Given the description of an element on the screen output the (x, y) to click on. 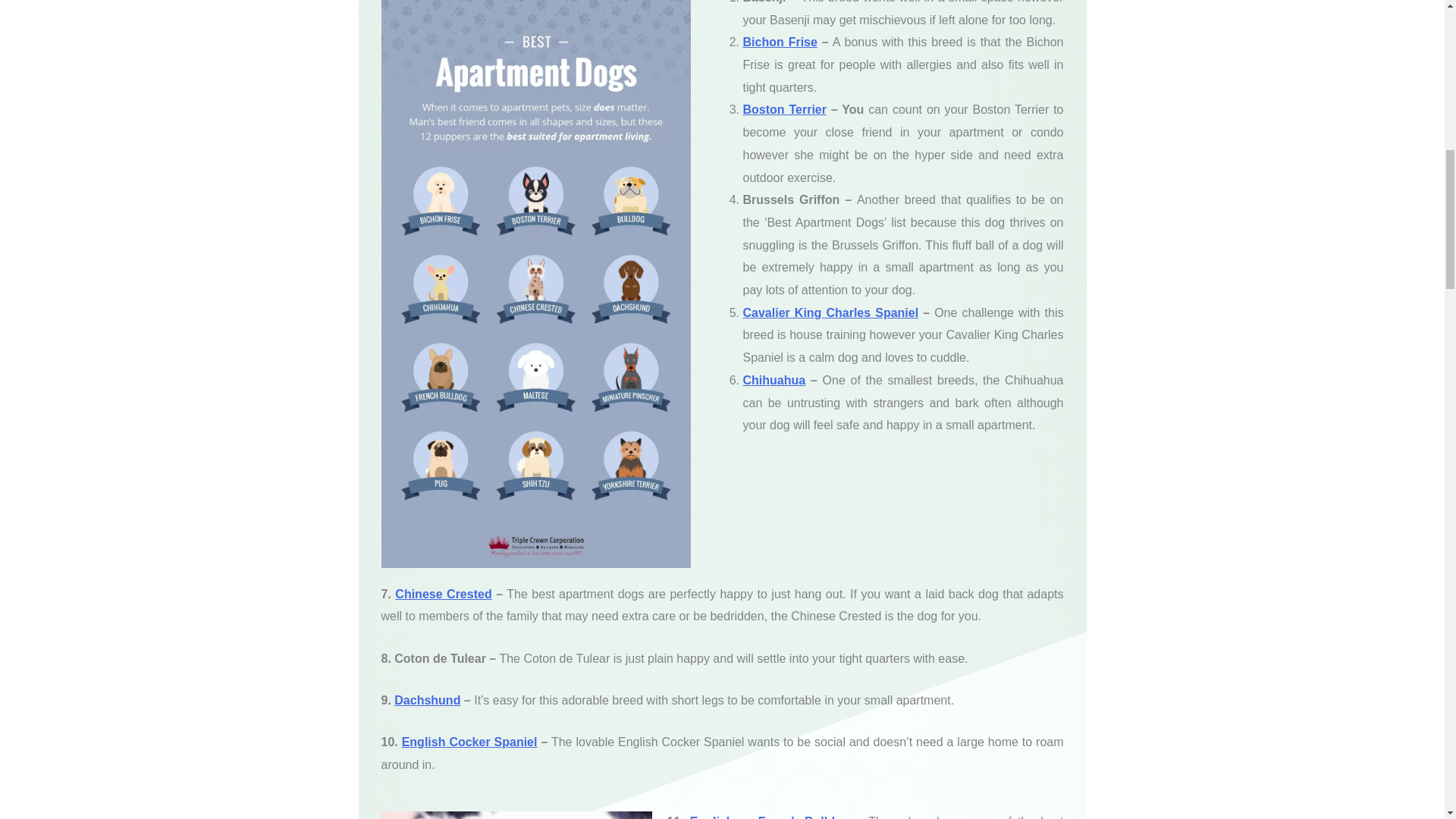
Chihuahua (773, 379)
English (714, 816)
Cavalier King Charles Spaniel (830, 312)
Dachshund (427, 699)
English Cocker Spaniel (469, 741)
Bichon Frise (779, 42)
Chinese Crested (443, 594)
Boston Terrier (783, 109)
